Given the description of an element on the screen output the (x, y) to click on. 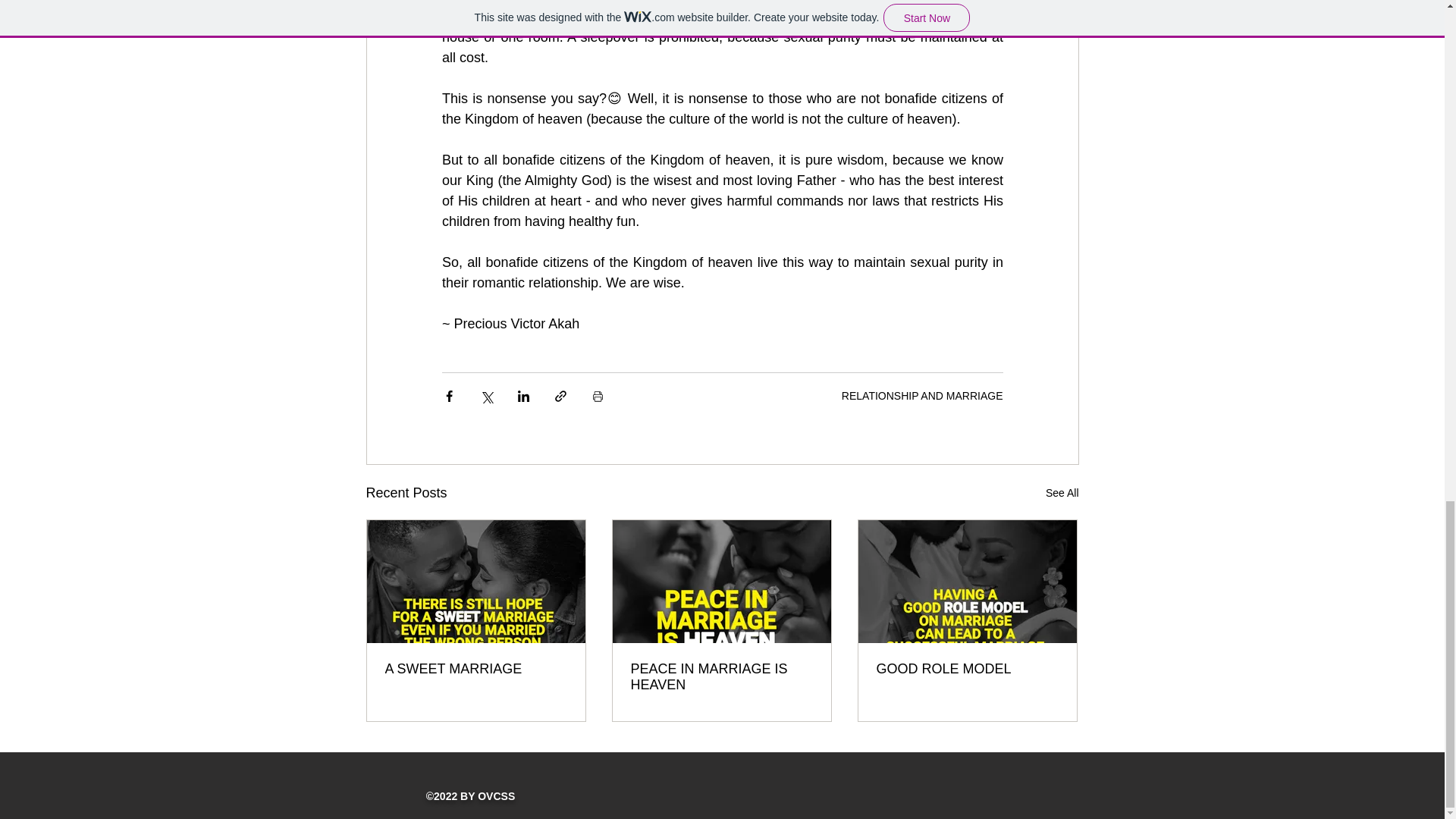
RELATIONSHIP AND MARRIAGE (922, 395)
GOOD ROLE MODEL (967, 668)
See All (1061, 493)
PEACE IN MARRIAGE IS HEAVEN (721, 676)
A SWEET MARRIAGE (476, 668)
